Given the description of an element on the screen output the (x, y) to click on. 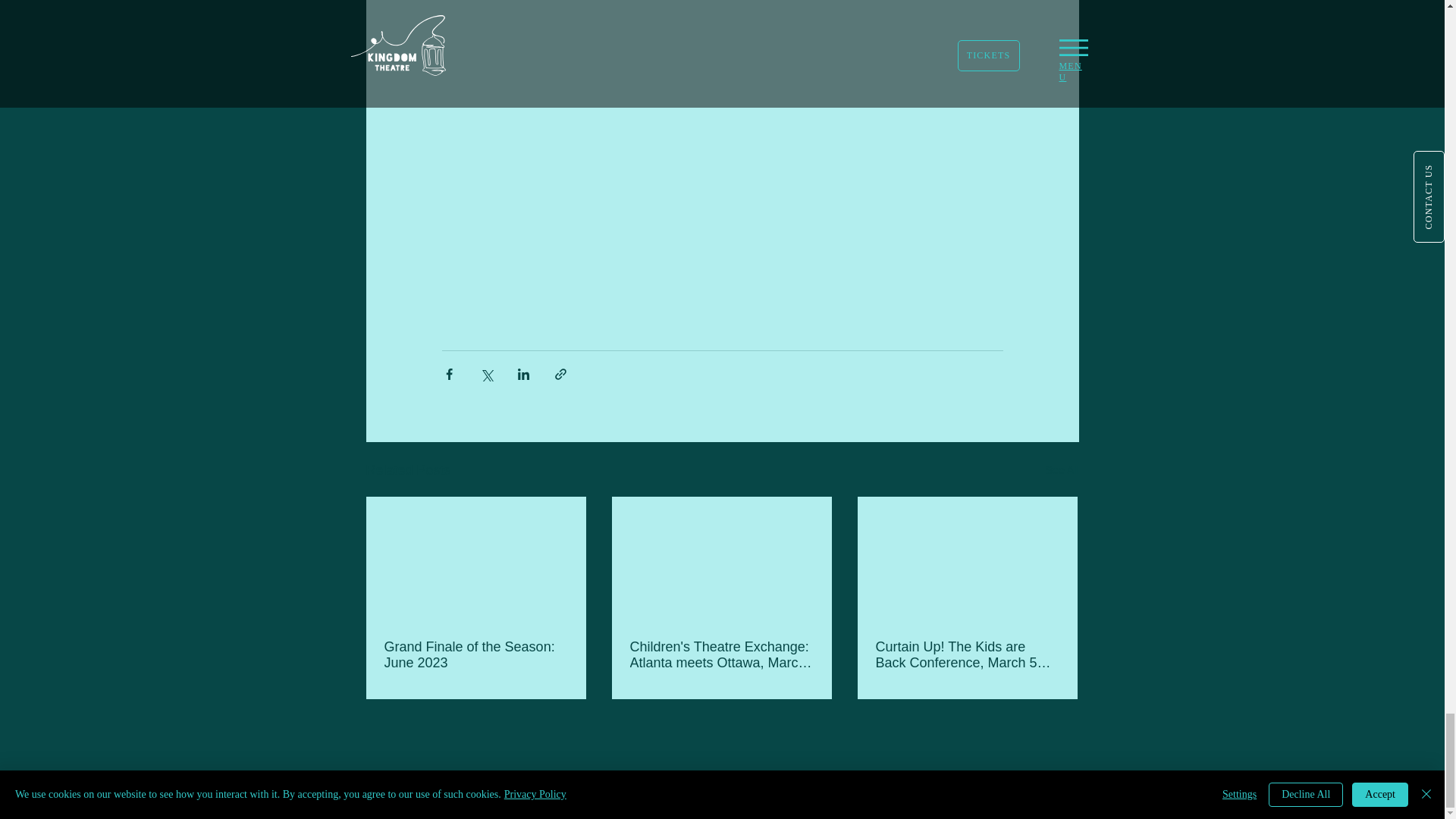
See All (1061, 470)
Grand Finale of the Season: June 2023 (475, 654)
Curtain Up! The Kids are Back Conference, March 5 2023 (966, 654)
